Given the description of an element on the screen output the (x, y) to click on. 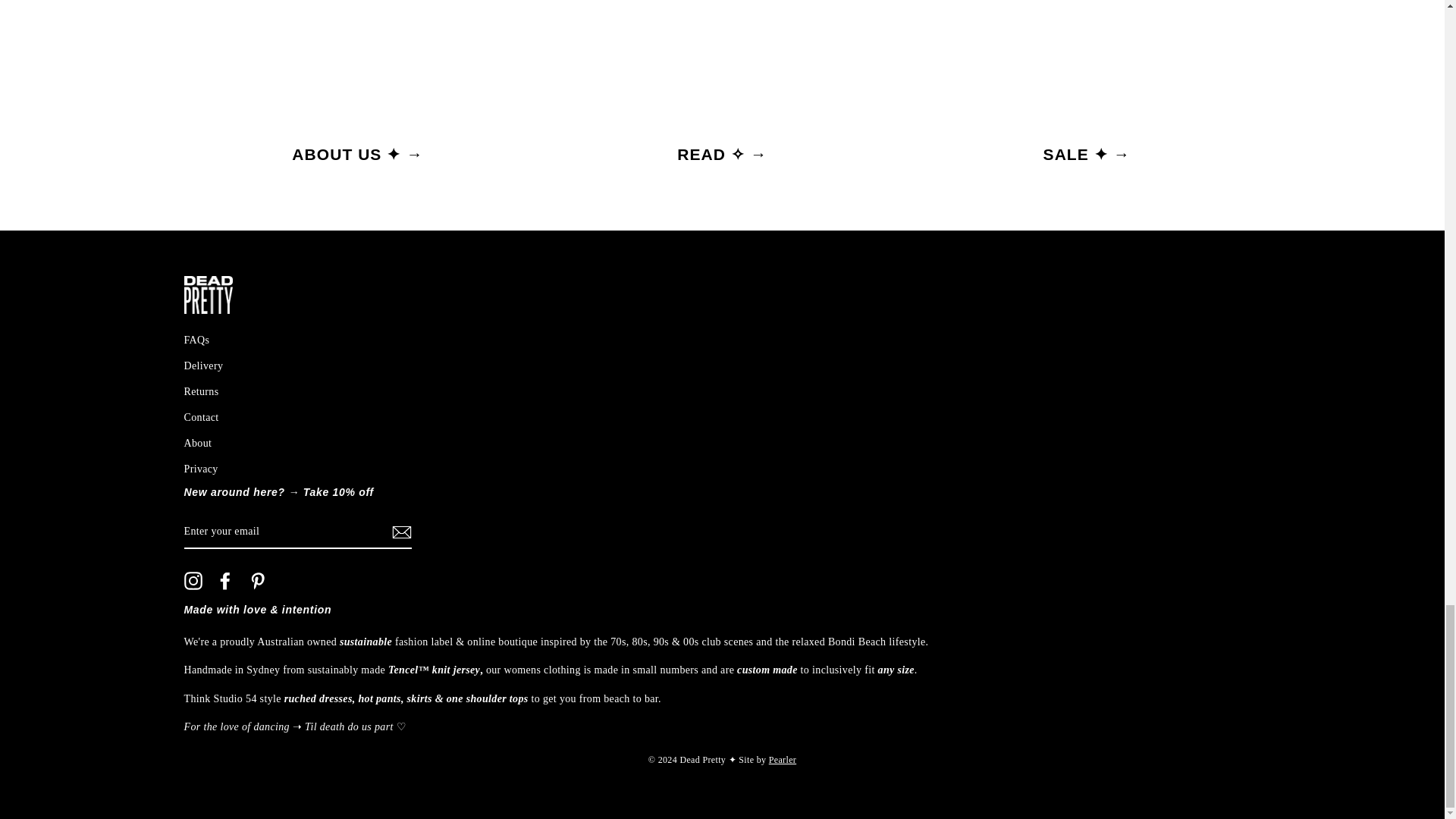
Dead Pretty on Pinterest (257, 580)
Dead Pretty on Facebook (224, 580)
Dead Pretty on Instagram (192, 580)
